Given the description of an element on the screen output the (x, y) to click on. 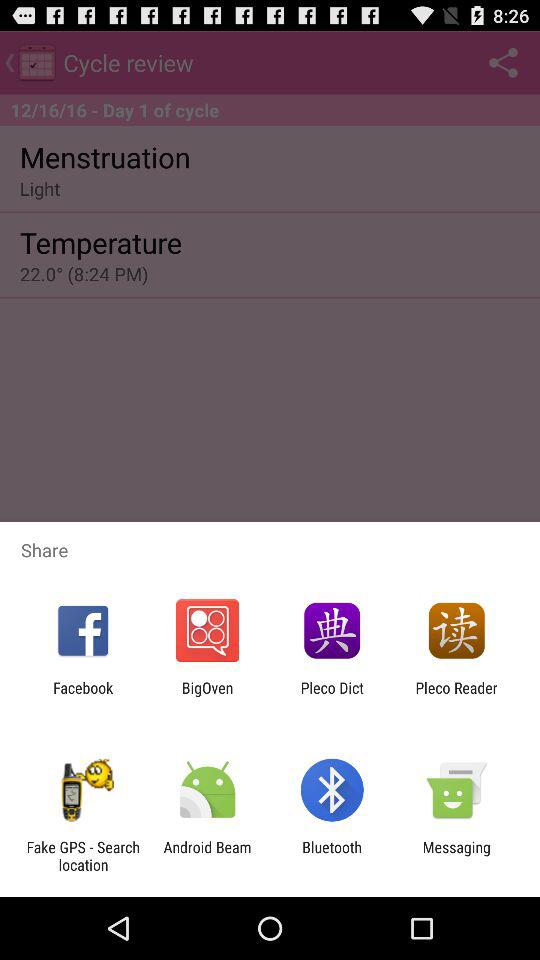
click the bigoven icon (207, 696)
